Given the description of an element on the screen output the (x, y) to click on. 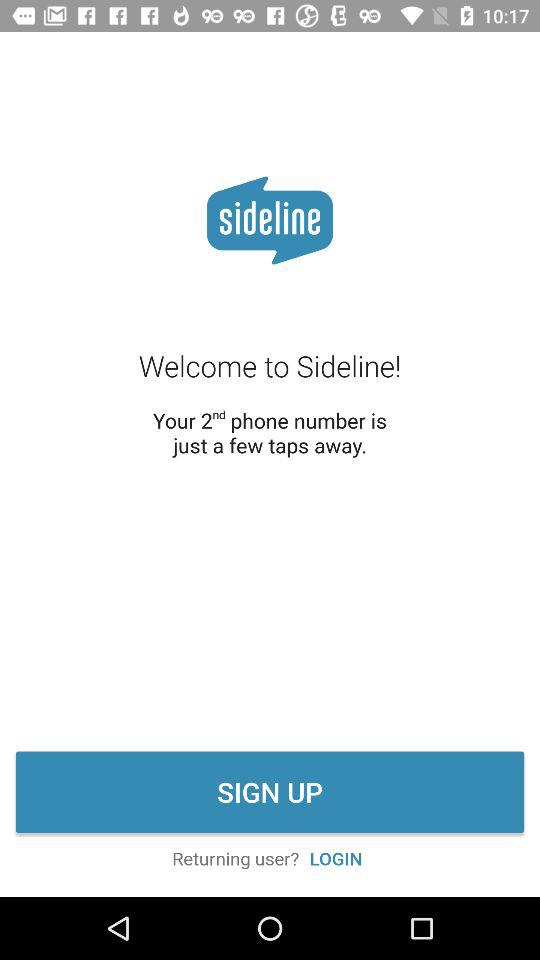
click the icon next to returning user? item (335, 858)
